Given the description of an element on the screen output the (x, y) to click on. 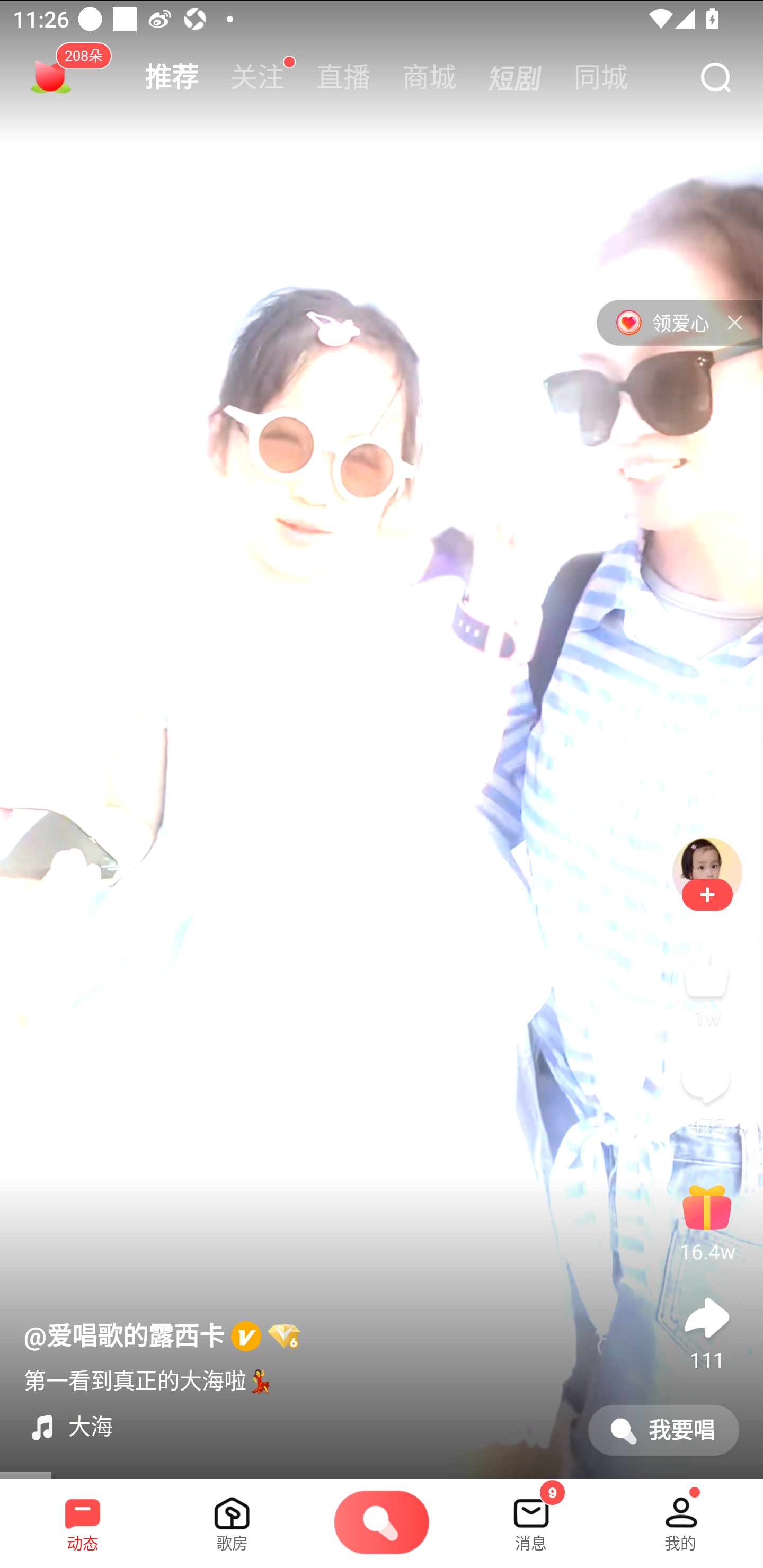
推荐 (171, 77)
关注 (257, 77)
直播 (343, 77)
商城 (429, 77)
同城 (600, 77)
任务中心 (50, 77)
搜索 (714, 78)
头像 (707, 872)
关注 (706, 894)
点赞10521 1w (706, 986)
评论475 475 (706, 1092)
送礼16.4w 16.4w (706, 1220)
分享111 111 (706, 1329)
@爱唱歌的露西卡    (161, 1336)
第一看到真正的大海啦💃 (148, 1378)
大海 (297, 1426)
我要唱 (663, 1429)
已选中动态 (82, 1516)
未选中歌房 (231, 1516)
未选中录歌 (381, 1523)
未选中消息 (530, 1516)
未选中我的 (680, 1516)
